Given the description of an element on the screen output the (x, y) to click on. 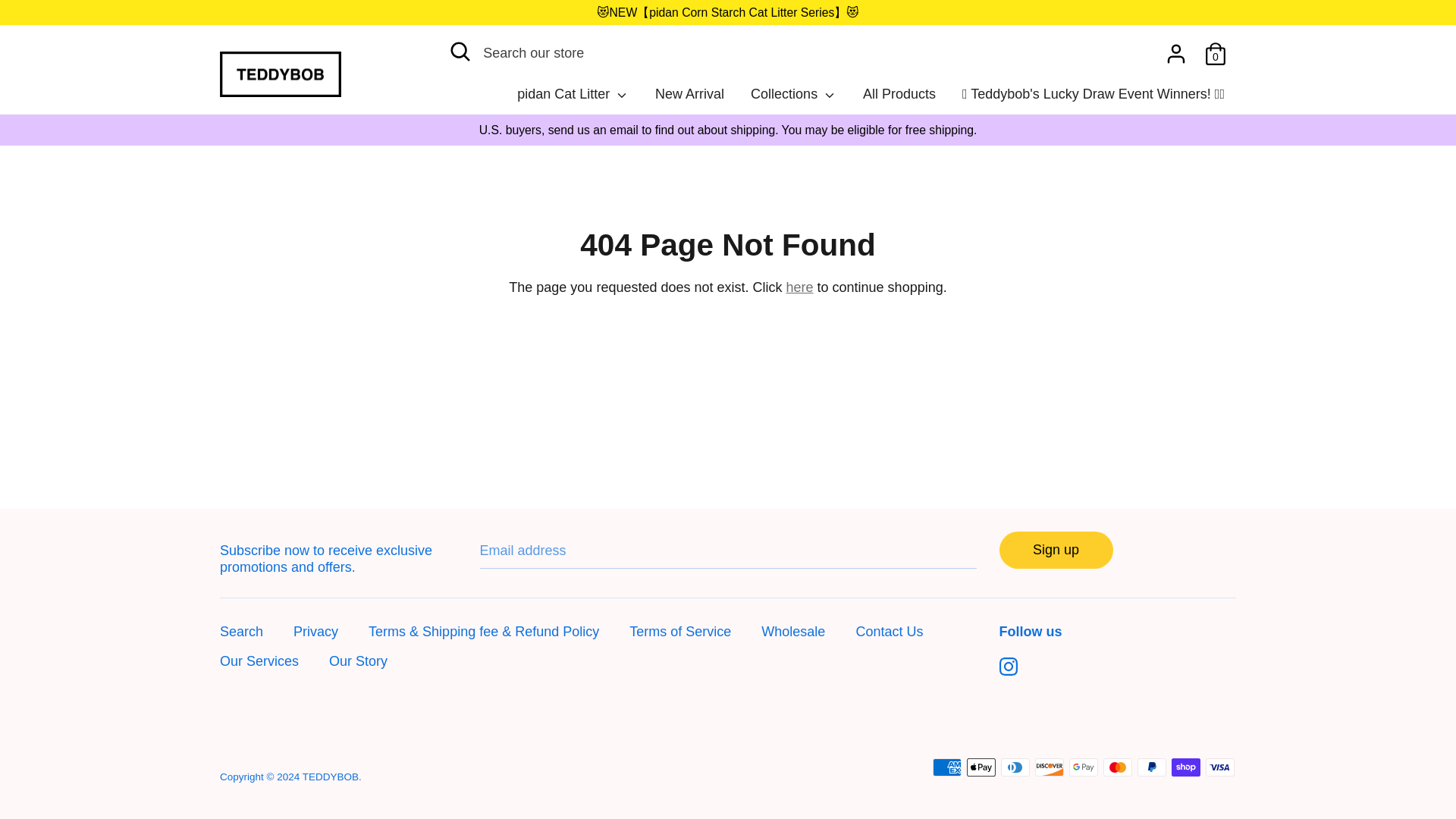
Google Pay (1082, 678)
Discover (1049, 678)
Diners Club (1015, 678)
PayPal (1151, 678)
Shop Pay (1185, 678)
Mastercard (1117, 678)
Visa (1219, 678)
American Express (946, 678)
0 (1214, 48)
Apple Pay (980, 678)
